Given the description of an element on the screen output the (x, y) to click on. 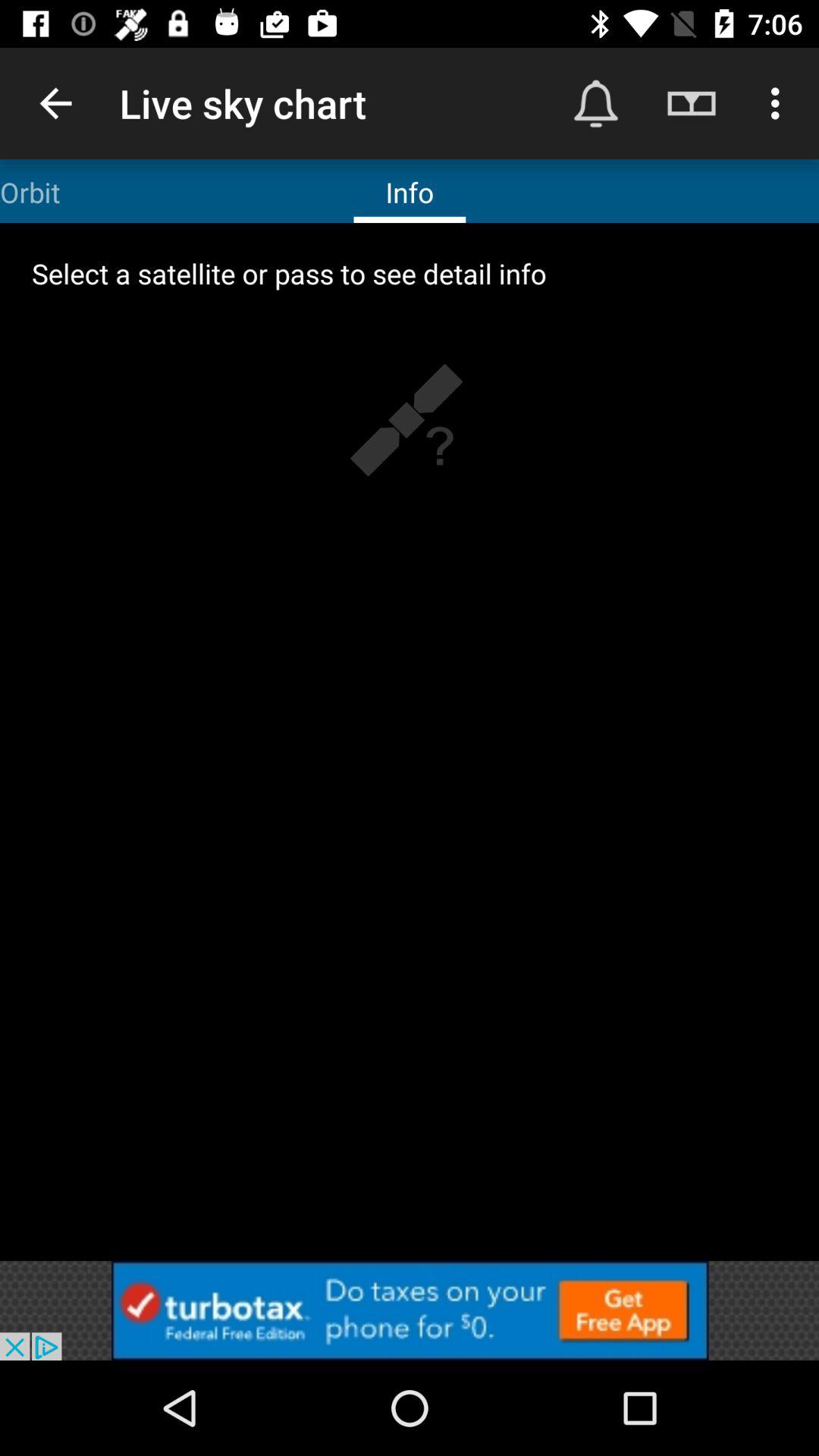
open advertisement (409, 1310)
